Given the description of an element on the screen output the (x, y) to click on. 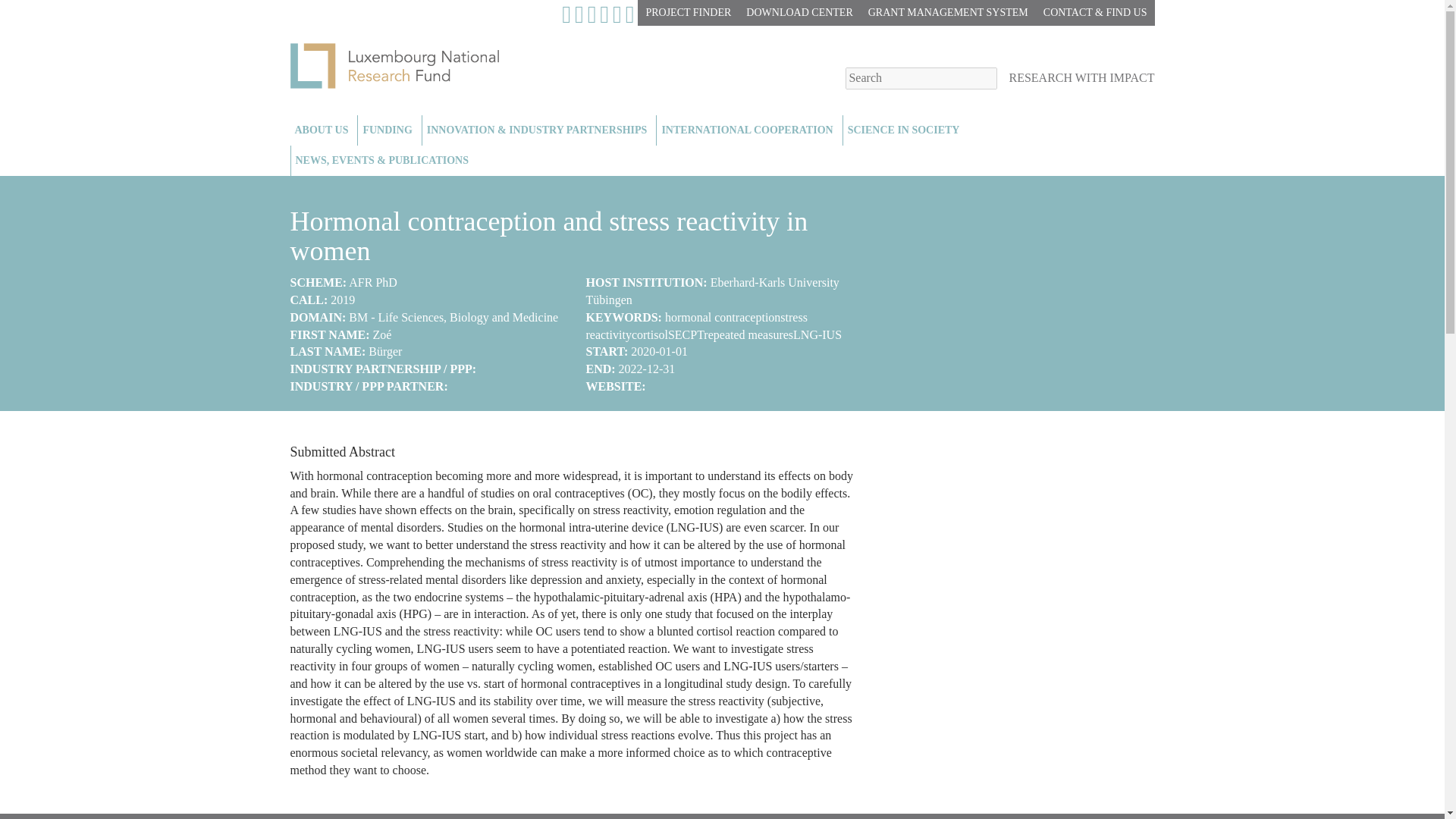
GRANT MANAGEMENT SYSTEM (947, 12)
PROJECT FINDER (687, 12)
FUNDING (389, 130)
ABOUT US (322, 130)
DOWNLOAD CENTER (799, 12)
